Given the description of an element on the screen output the (x, y) to click on. 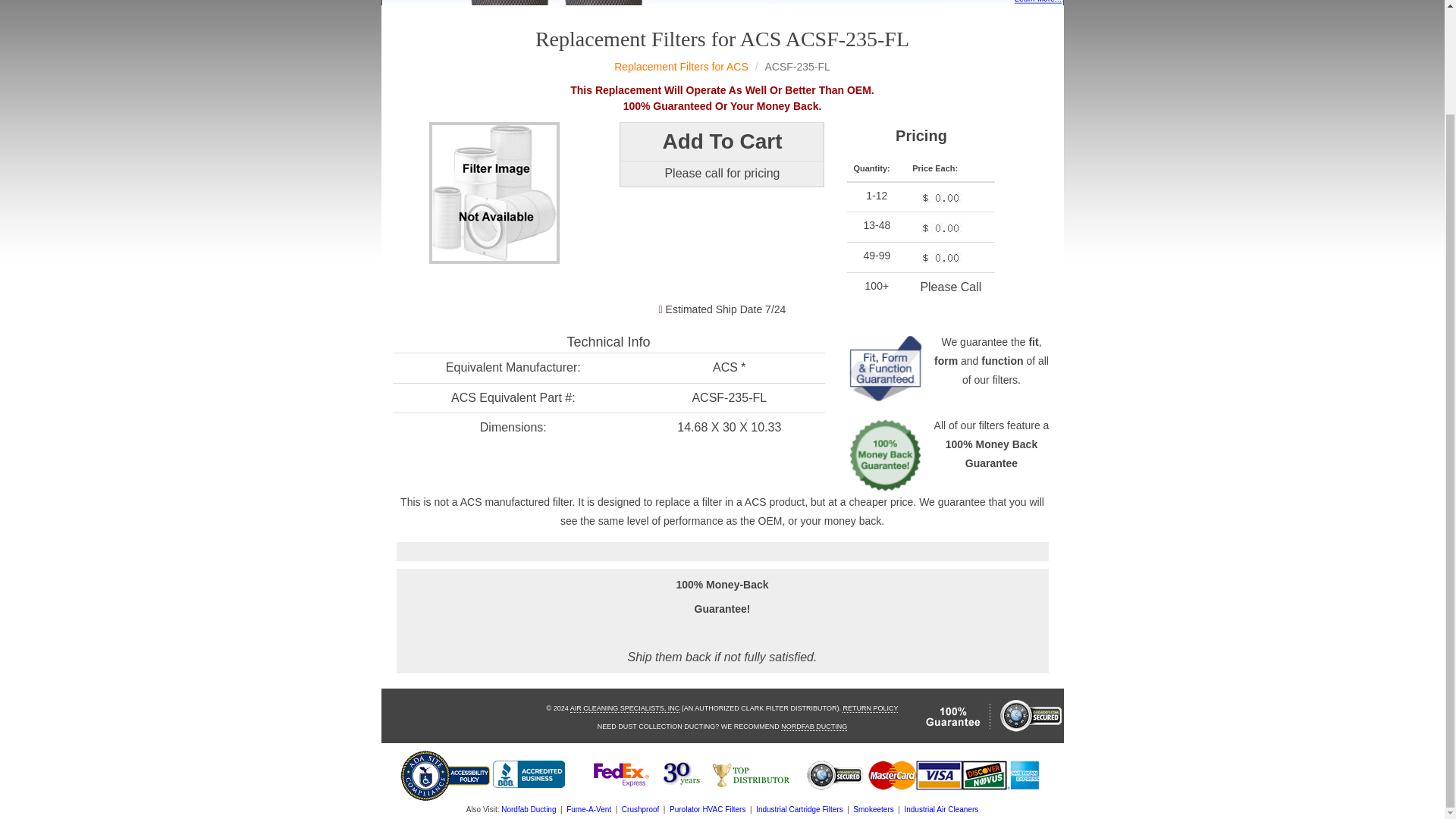
Replacement Filters for ACS (681, 66)
Smokeeters (873, 809)
Nordfab Ducting (528, 809)
Crushproof (640, 809)
NORDFAB DUCTING (813, 726)
RETURN POLICY (870, 708)
Industrial Air Cleaners (941, 809)
Industrial Cartridge Filters (799, 809)
Fume-A-Vent (588, 809)
Click to verify BBB accreditation and to see a BBB report. (528, 773)
Purolator HVAC Filters (707, 809)
AIR CLEANING SPECIALISTS, INC (624, 708)
